Given the description of an element on the screen output the (x, y) to click on. 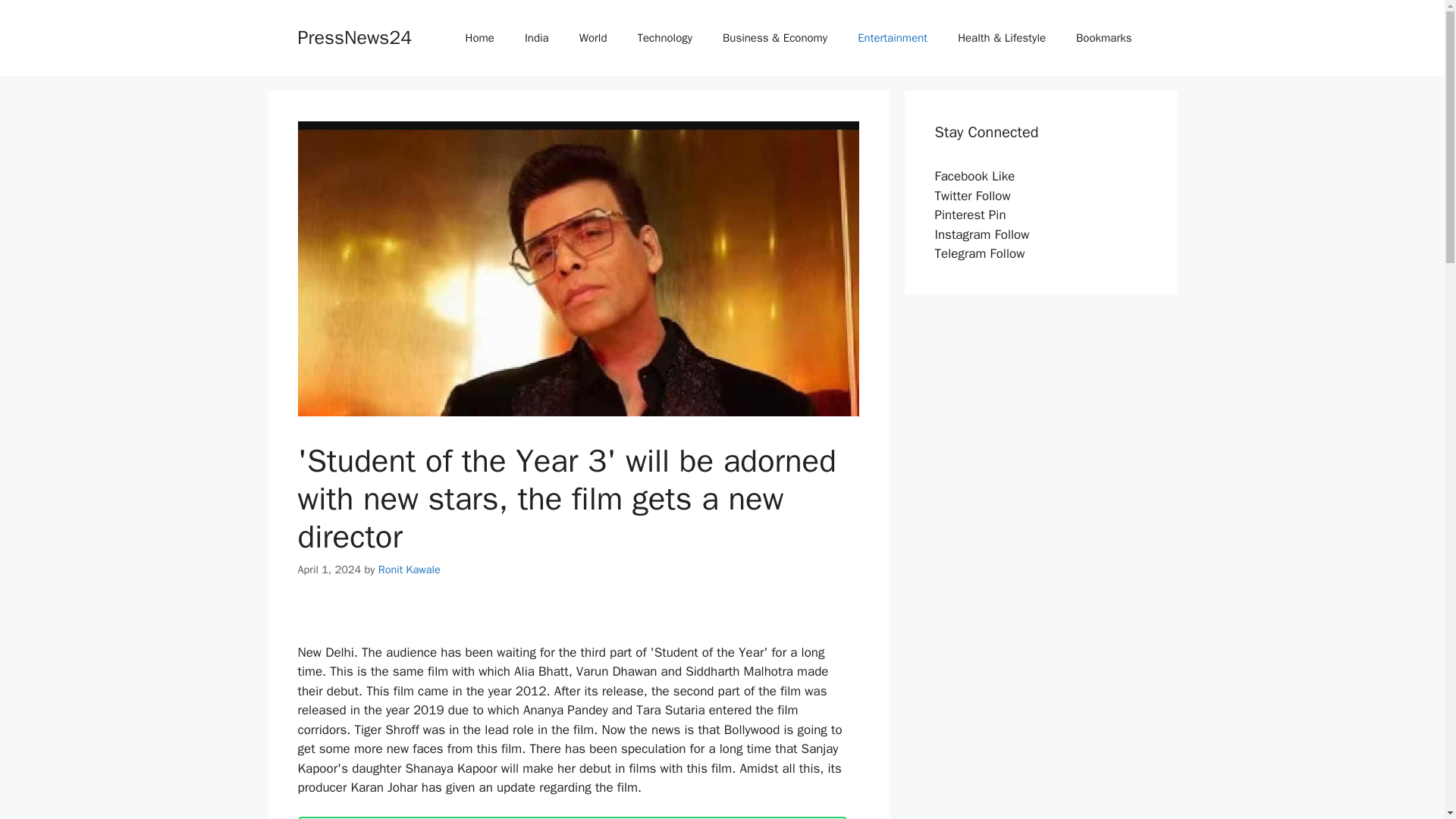
World (593, 37)
Home (479, 37)
PressNews24 (354, 37)
Bookmarks (1104, 37)
Ronit Kawale (409, 569)
View all posts by Ronit Kawale (409, 569)
Technology (665, 37)
Entertainment (892, 37)
India (536, 37)
